Given the description of an element on the screen output the (x, y) to click on. 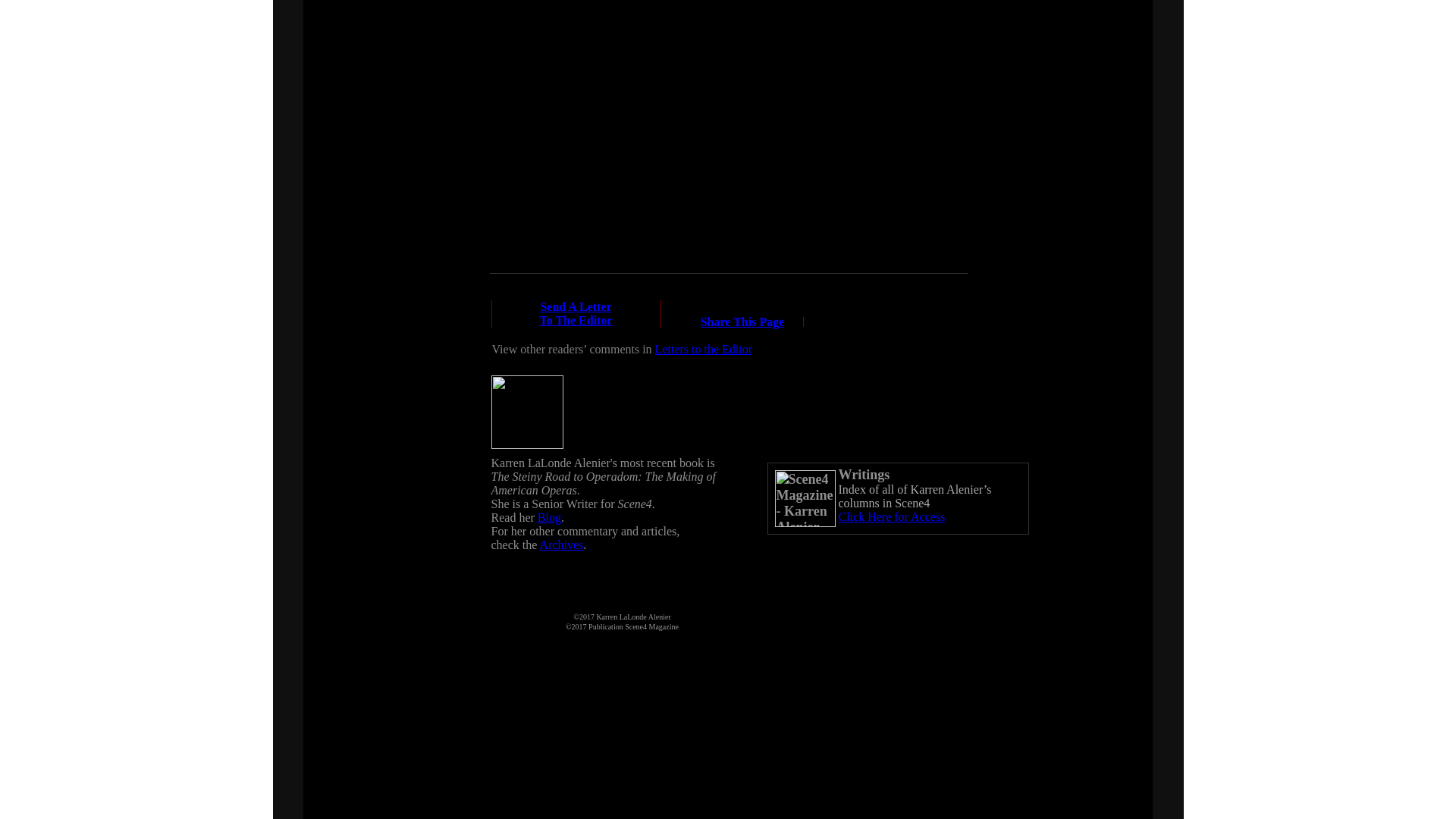
Click Here for Access (574, 313)
Letters to the Editor (891, 516)
Archives (703, 349)
Share This Page (560, 544)
Blog (742, 321)
